Given the description of an element on the screen output the (x, y) to click on. 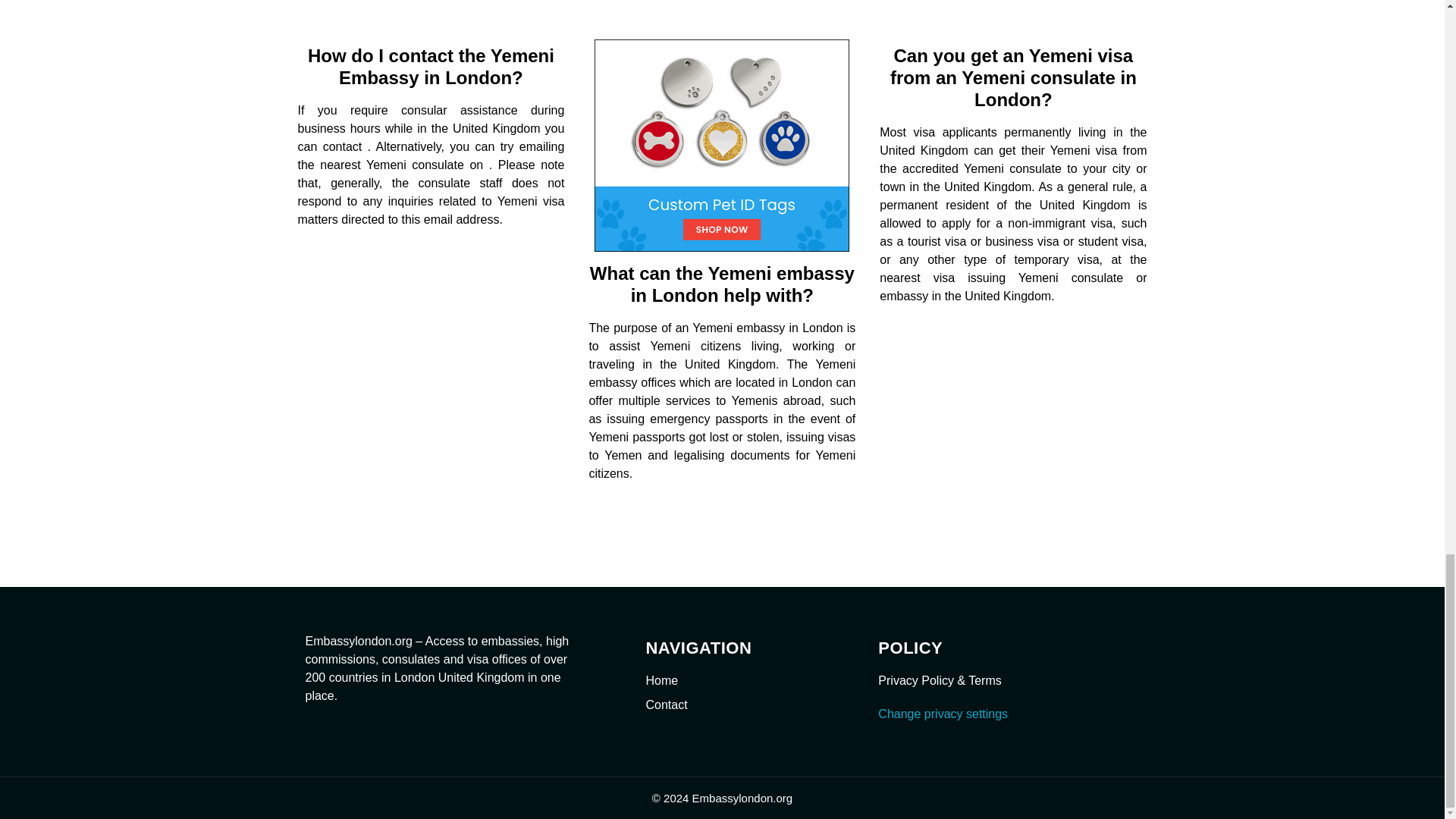
Home (746, 680)
Contact (746, 705)
Change privacy settings (942, 713)
